Given the description of an element on the screen output the (x, y) to click on. 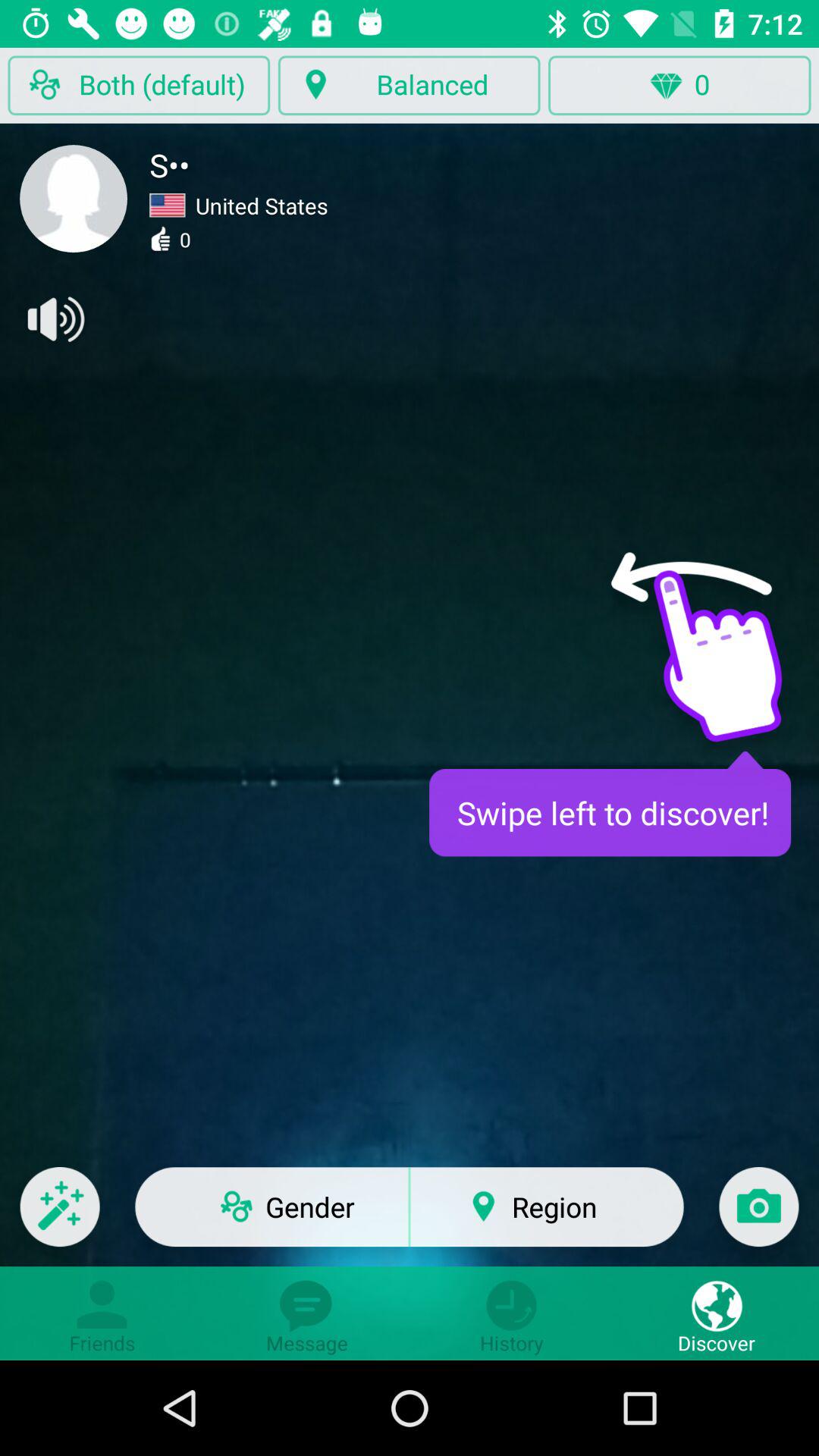
select video effects (59, 1216)
